Given the description of an element on the screen output the (x, y) to click on. 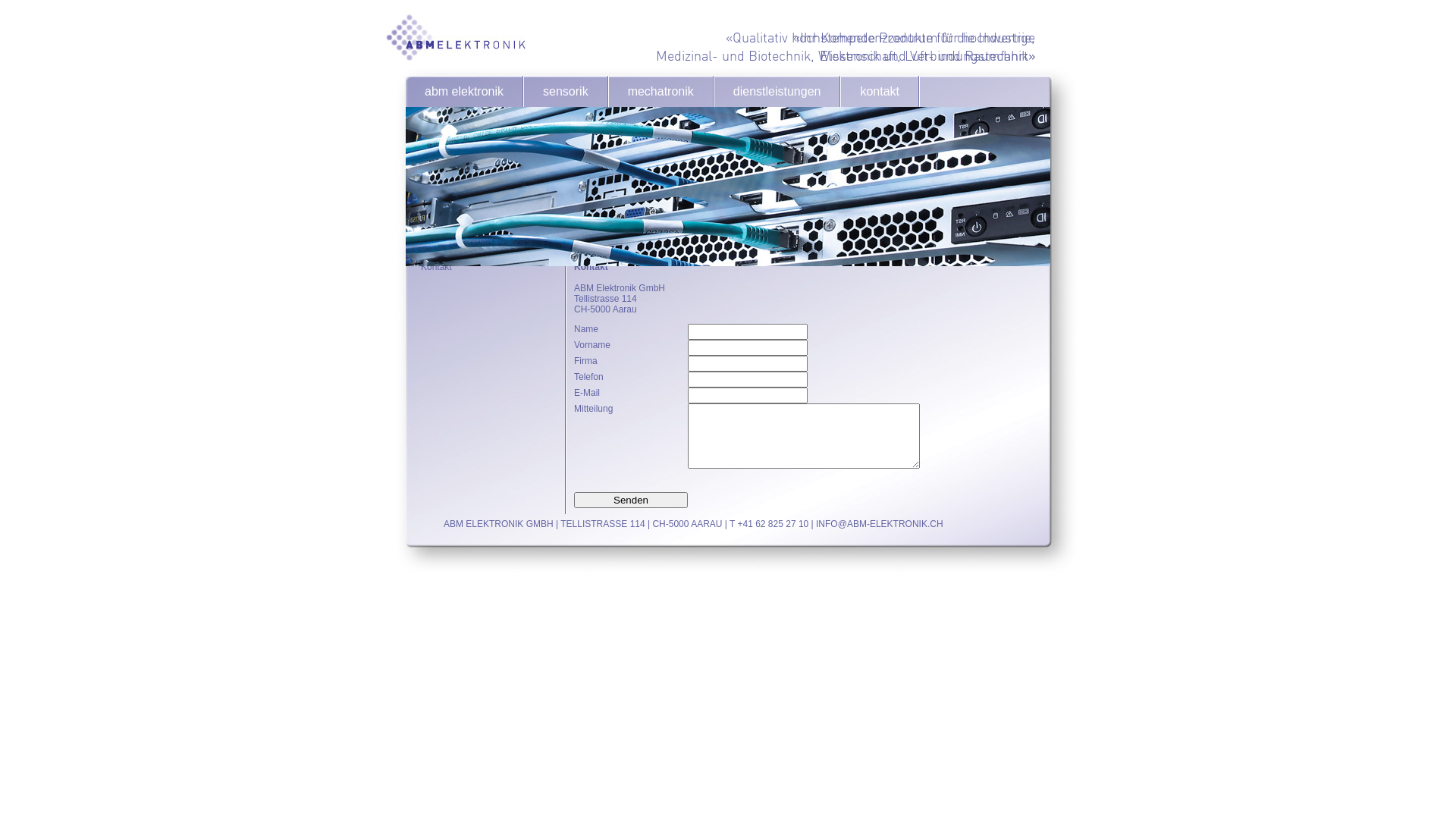
mechatronik Element type: text (660, 90)
abm elektronik Element type: text (464, 90)
kontakt Element type: text (879, 90)
INFO@ABM-ELEKTRONIK.CH Element type: text (879, 523)
dienstleistungen Element type: text (776, 90)
Senden Element type: text (630, 500)
sensorik Element type: text (565, 90)
